Given the description of an element on the screen output the (x, y) to click on. 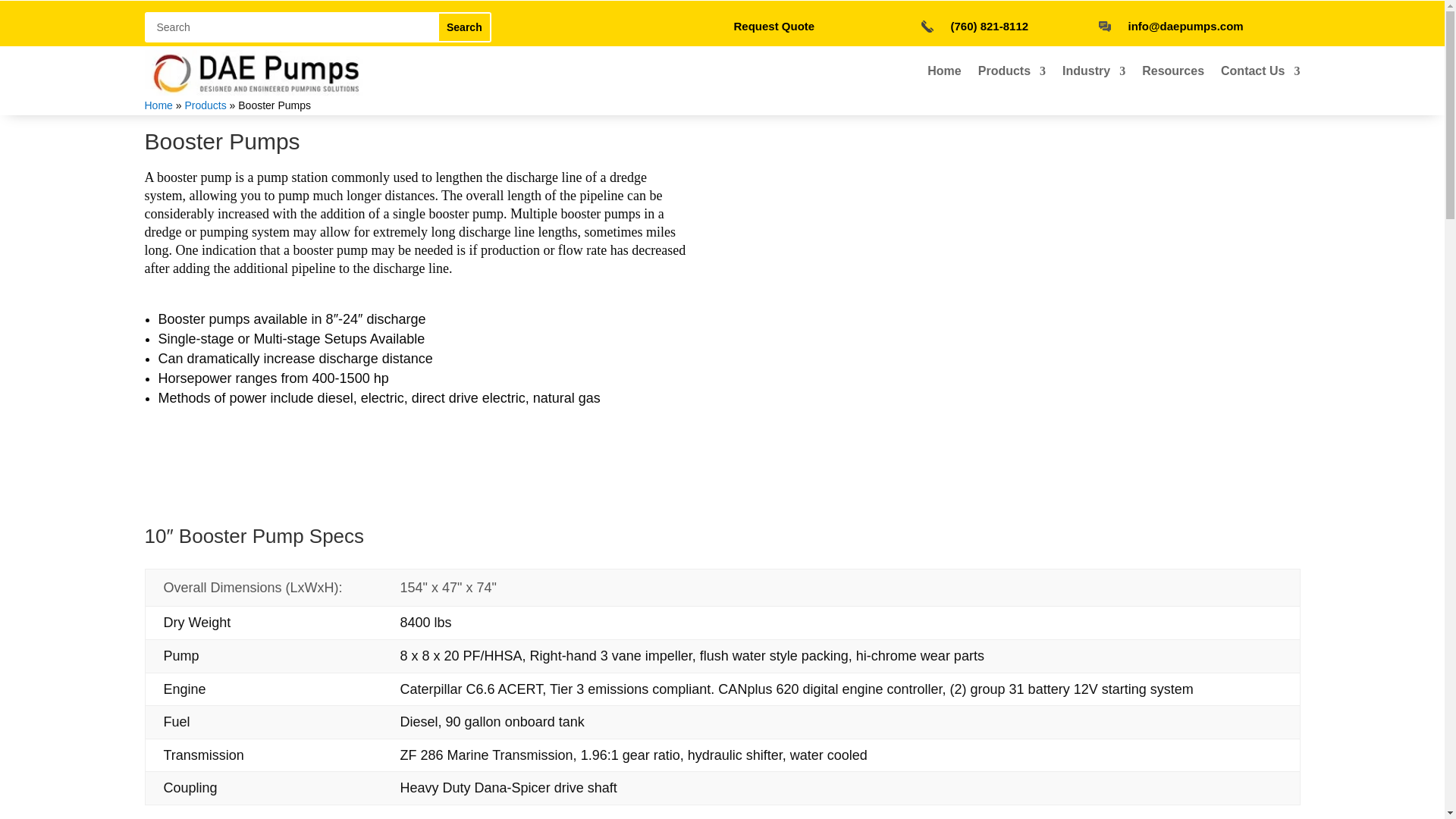
Products (1011, 74)
Industry (1093, 74)
Request Quote (774, 25)
Search (464, 26)
Search (464, 26)
DAE Pumps (257, 72)
Search (464, 26)
Home (943, 74)
